Given the description of an element on the screen output the (x, y) to click on. 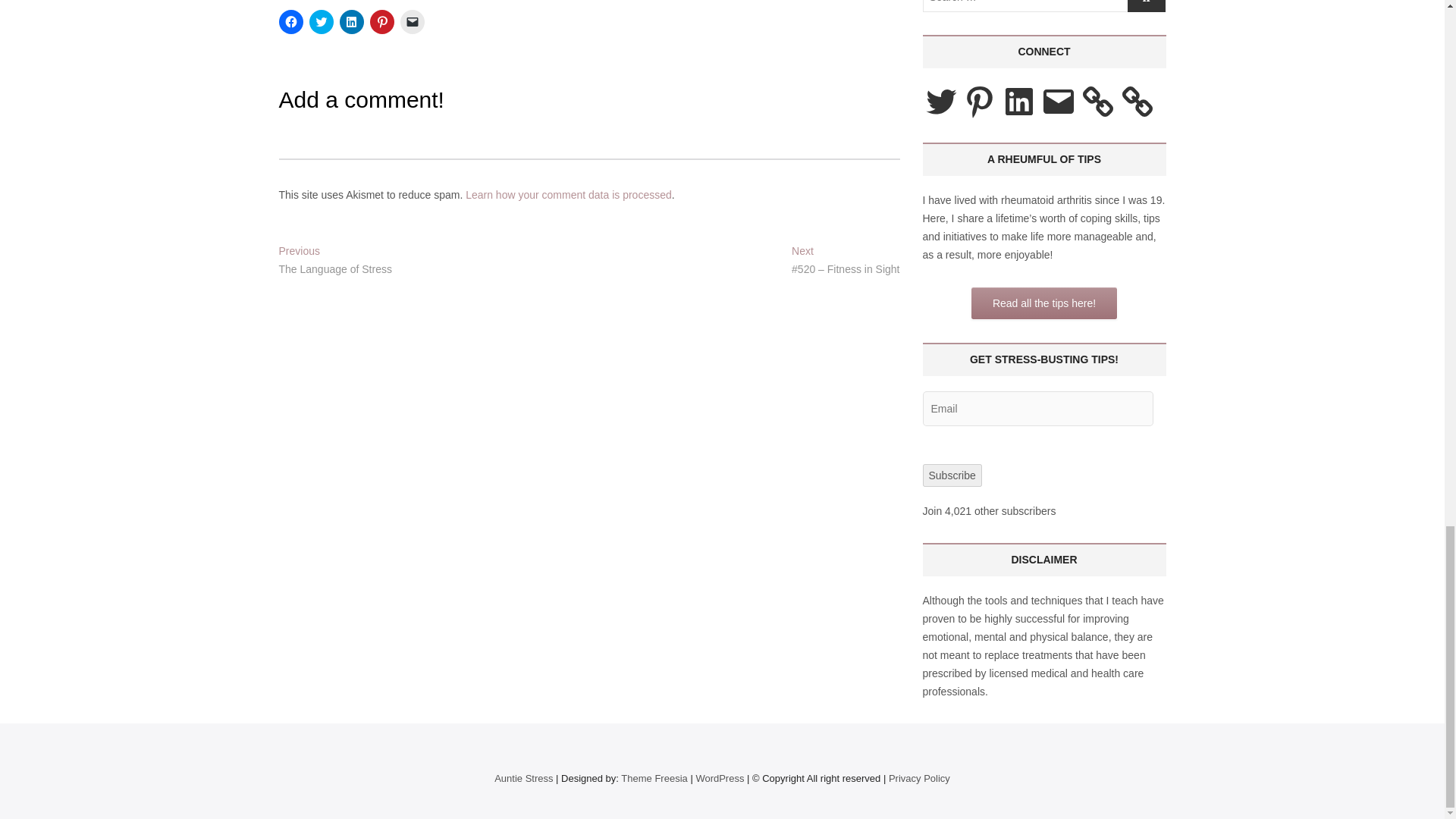
Auntie Stress (524, 778)
Click to email a link to a friend (412, 21)
Theme Freesia (654, 778)
Click to share on Pinterest (381, 21)
Click to share on LinkedIn (351, 21)
WordPress (719, 778)
Click to share on Facebook (290, 21)
Click to share on Twitter (320, 21)
